Given the description of an element on the screen output the (x, y) to click on. 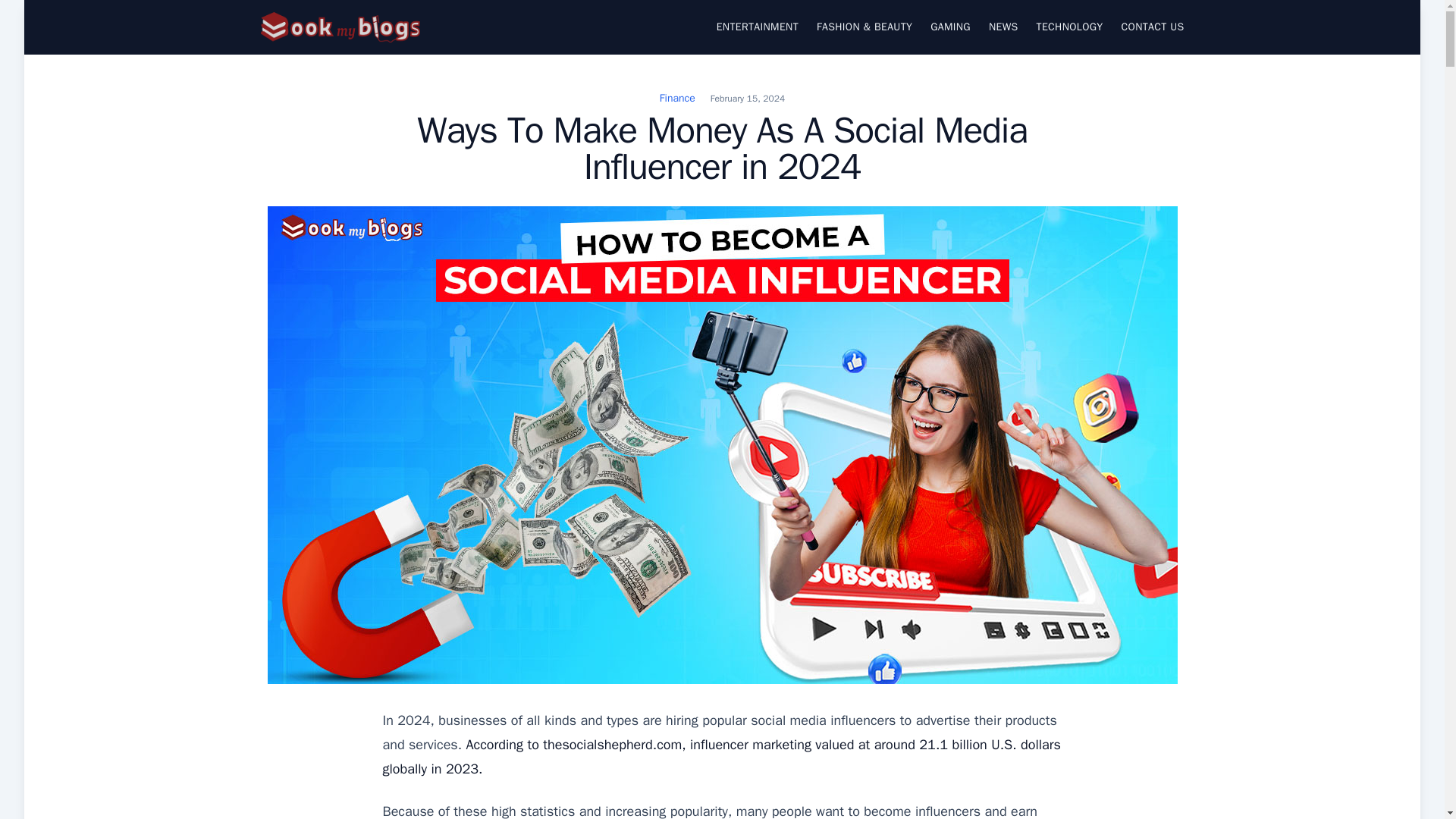
February 15, 2024 (747, 98)
GAMING (950, 26)
NEWS (1002, 26)
ENTERTAINMENT (756, 26)
Book My Blogs (316, 54)
TECHNOLOGY (1069, 26)
CONTACT US (1153, 26)
Finance (677, 97)
